Given the description of an element on the screen output the (x, y) to click on. 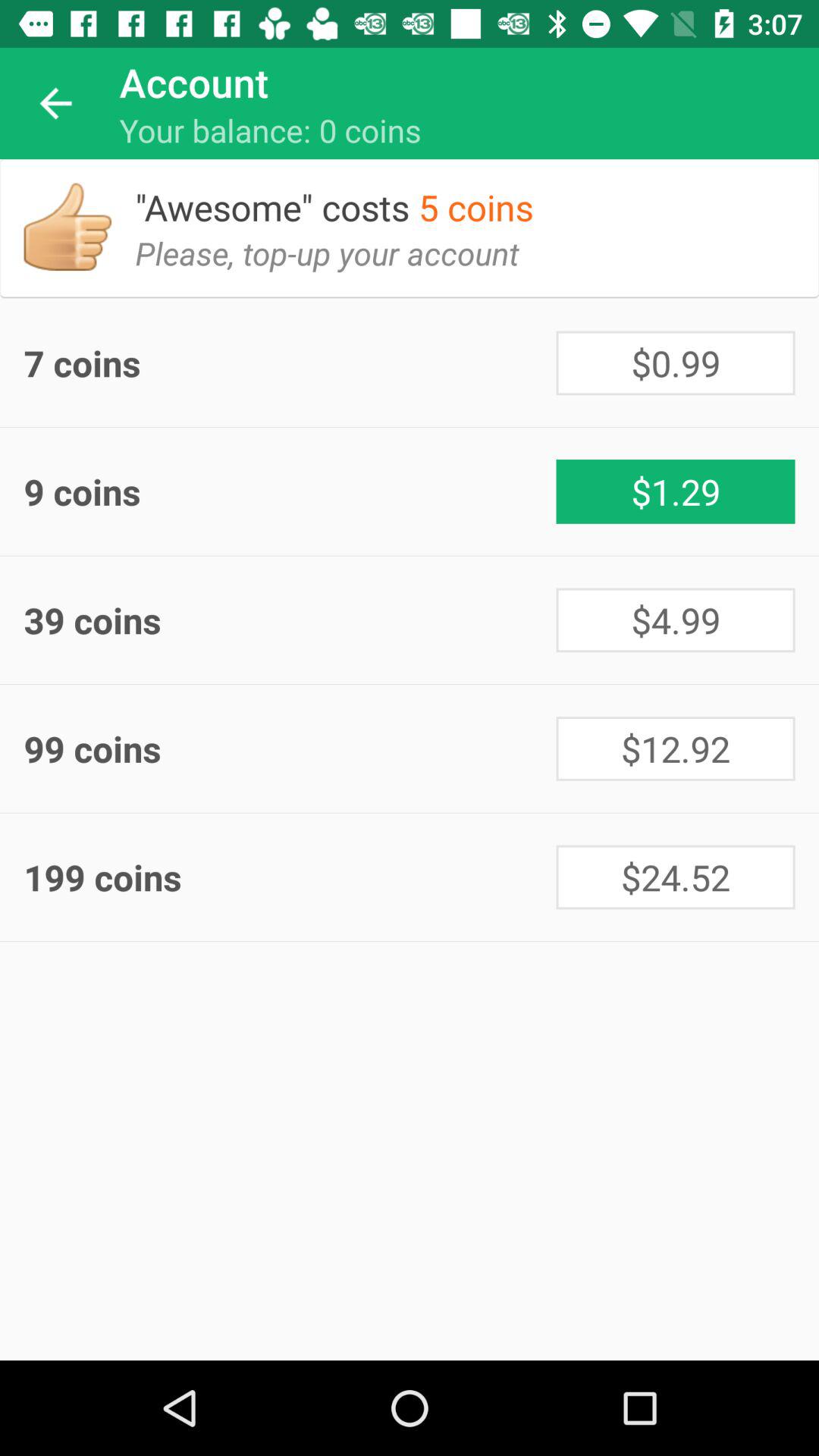
turn off the icon to the left of the $24.52 icon (289, 877)
